Given the description of an element on the screen output the (x, y) to click on. 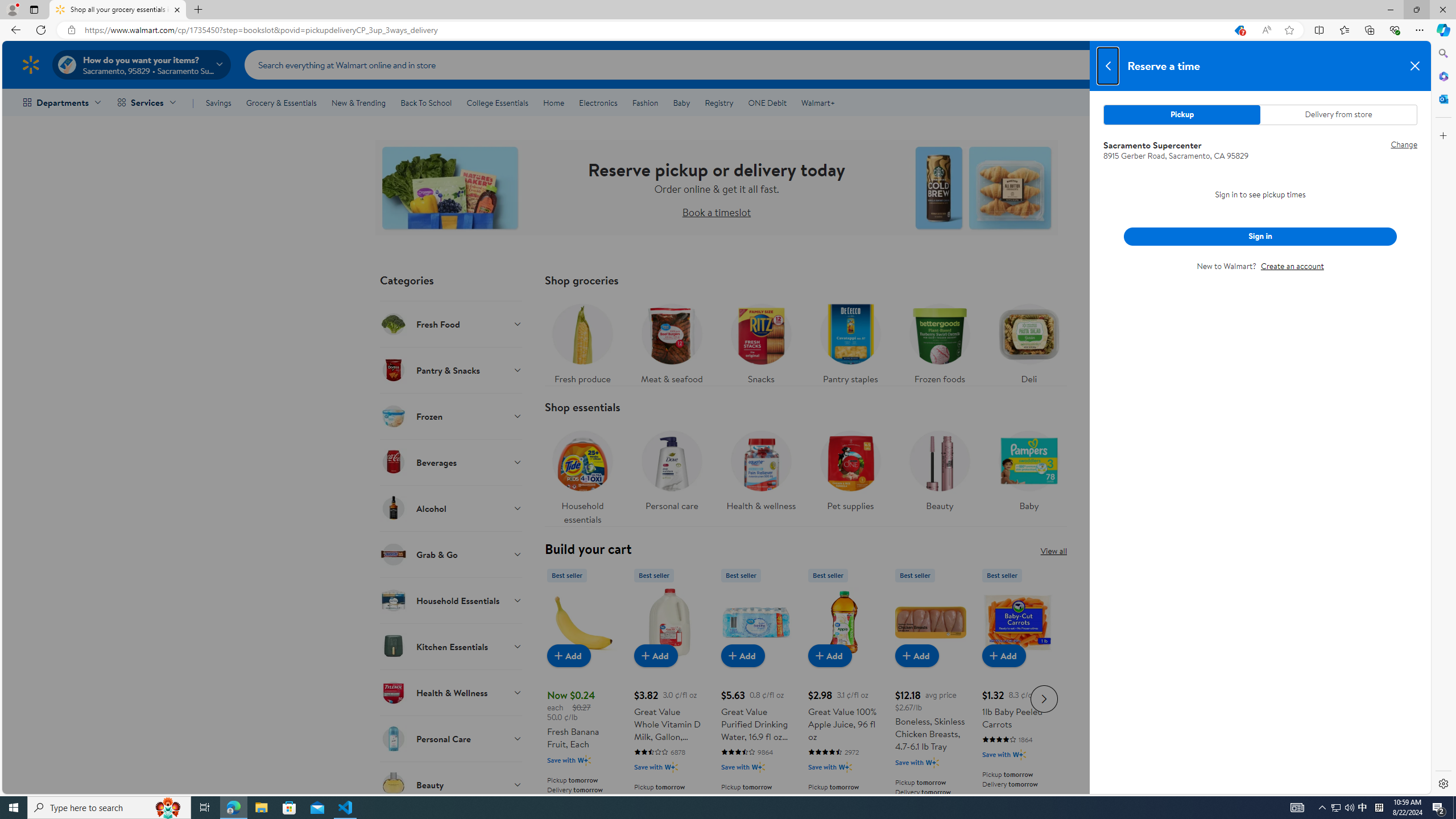
New & Trending (358, 102)
Fresh produce (582, 340)
View all (1053, 550)
close panel (1414, 65)
Fresh Banana Fruit, Each (582, 621)
Personal Care (451, 738)
